Given the description of an element on the screen output the (x, y) to click on. 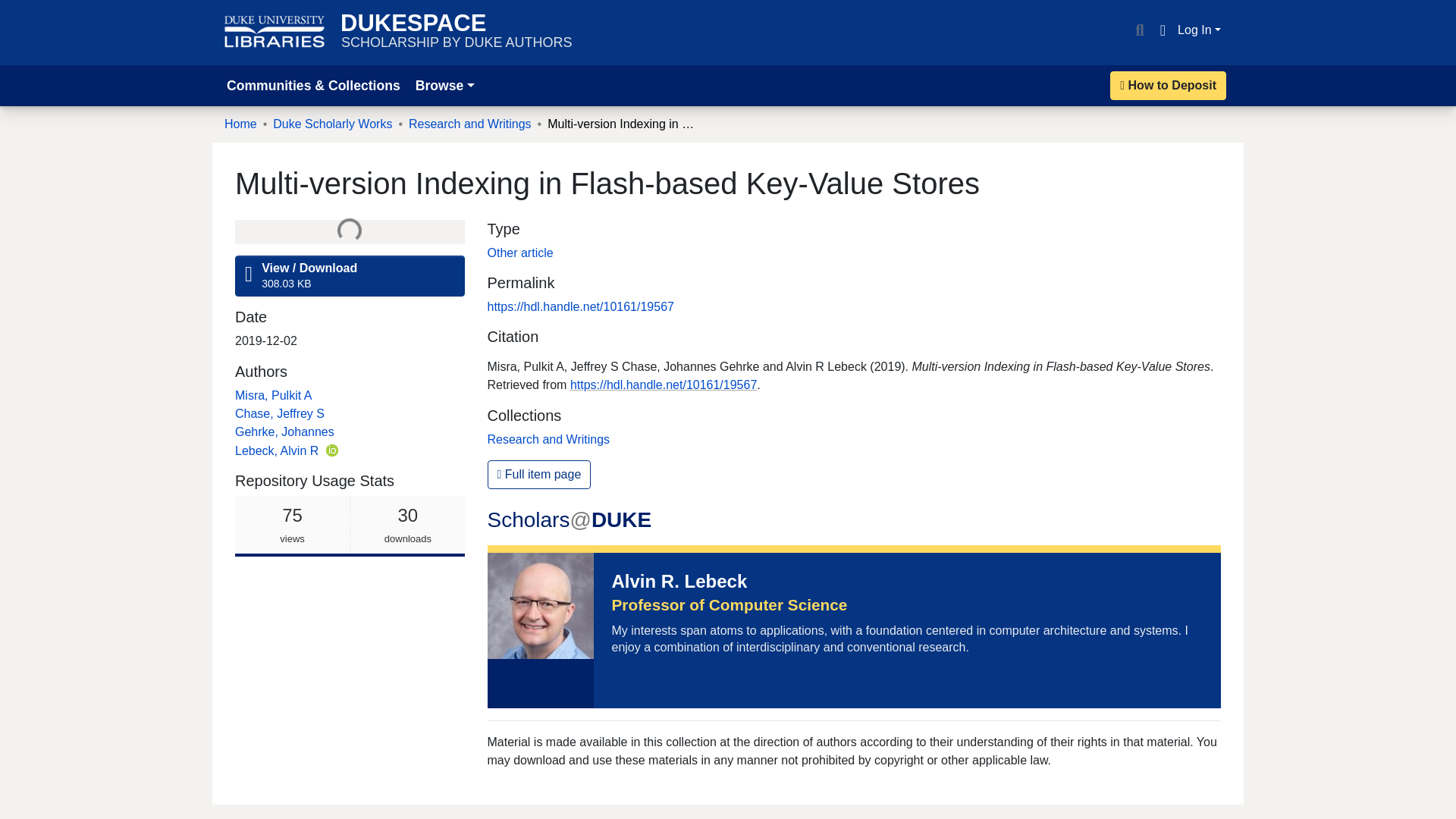
Chase, Jeffrey S (279, 413)
Browse (444, 85)
Lebeck, Alvin R (349, 526)
Language switch (277, 450)
How to Deposit (1162, 30)
Full item page (1167, 85)
Duke Scholarly Works (538, 474)
Other article (332, 124)
Misra, Pulkit A (519, 252)
